Given the description of an element on the screen output the (x, y) to click on. 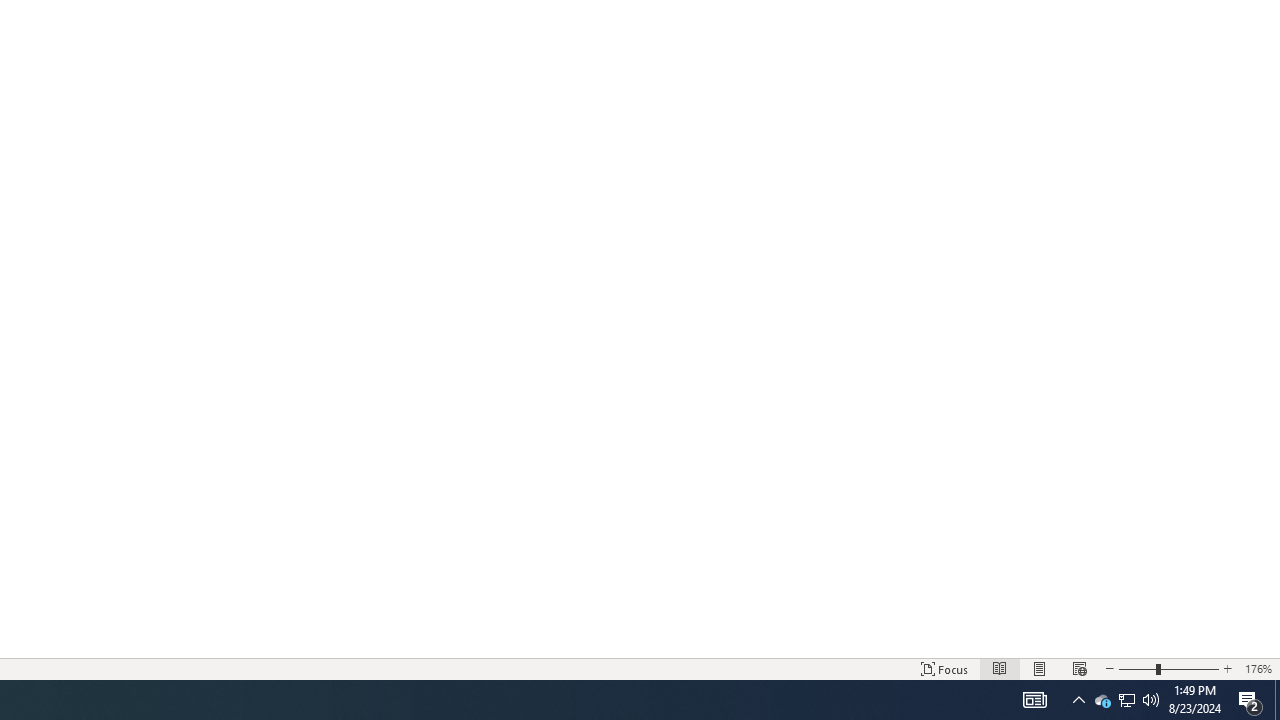
Focus  (944, 668)
Decrease Text Size (1109, 668)
Print Layout (1039, 668)
Zoom Out (1136, 668)
Text Size (1168, 668)
Zoom In (1189, 668)
Web Layout (1079, 668)
Increase Text Size (1227, 668)
Read Mode (1000, 668)
